Given the description of an element on the screen output the (x, y) to click on. 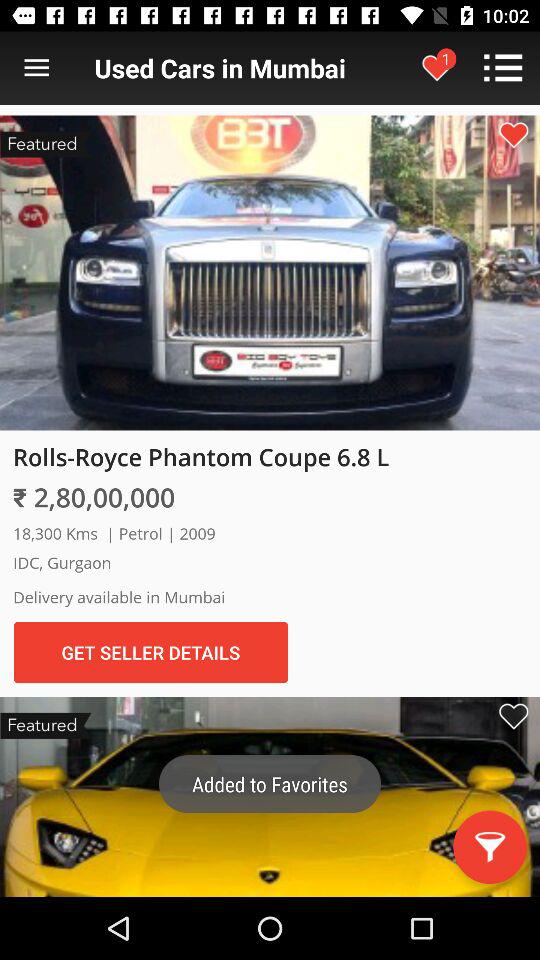
menu option (36, 68)
